Given the description of an element on the screen output the (x, y) to click on. 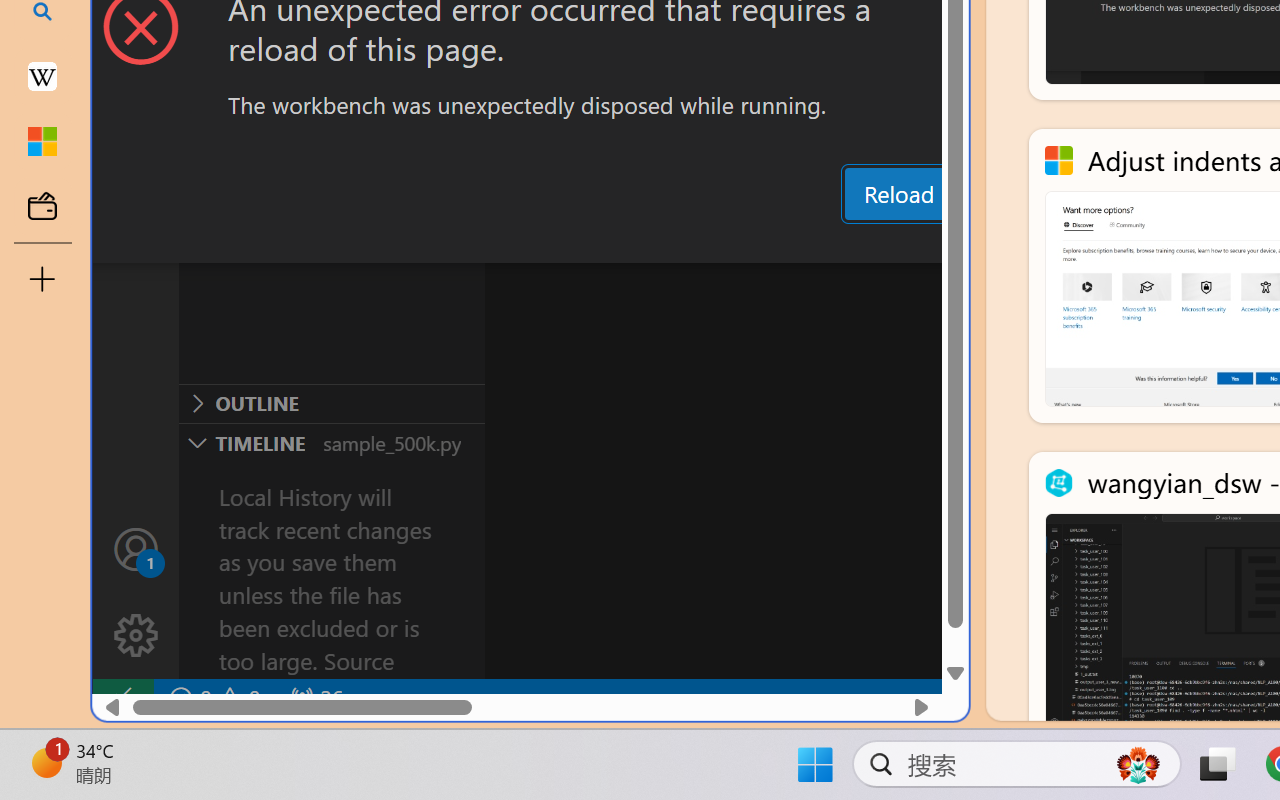
Timeline Section (331, 442)
Terminal (Ctrl+`) (1021, 243)
No Problems (212, 698)
Reload (898, 193)
Outline Section (331, 403)
Problems (Ctrl+Shift+M) (567, 243)
Accounts - Sign in requested (135, 548)
